Given the description of an element on the screen output the (x, y) to click on. 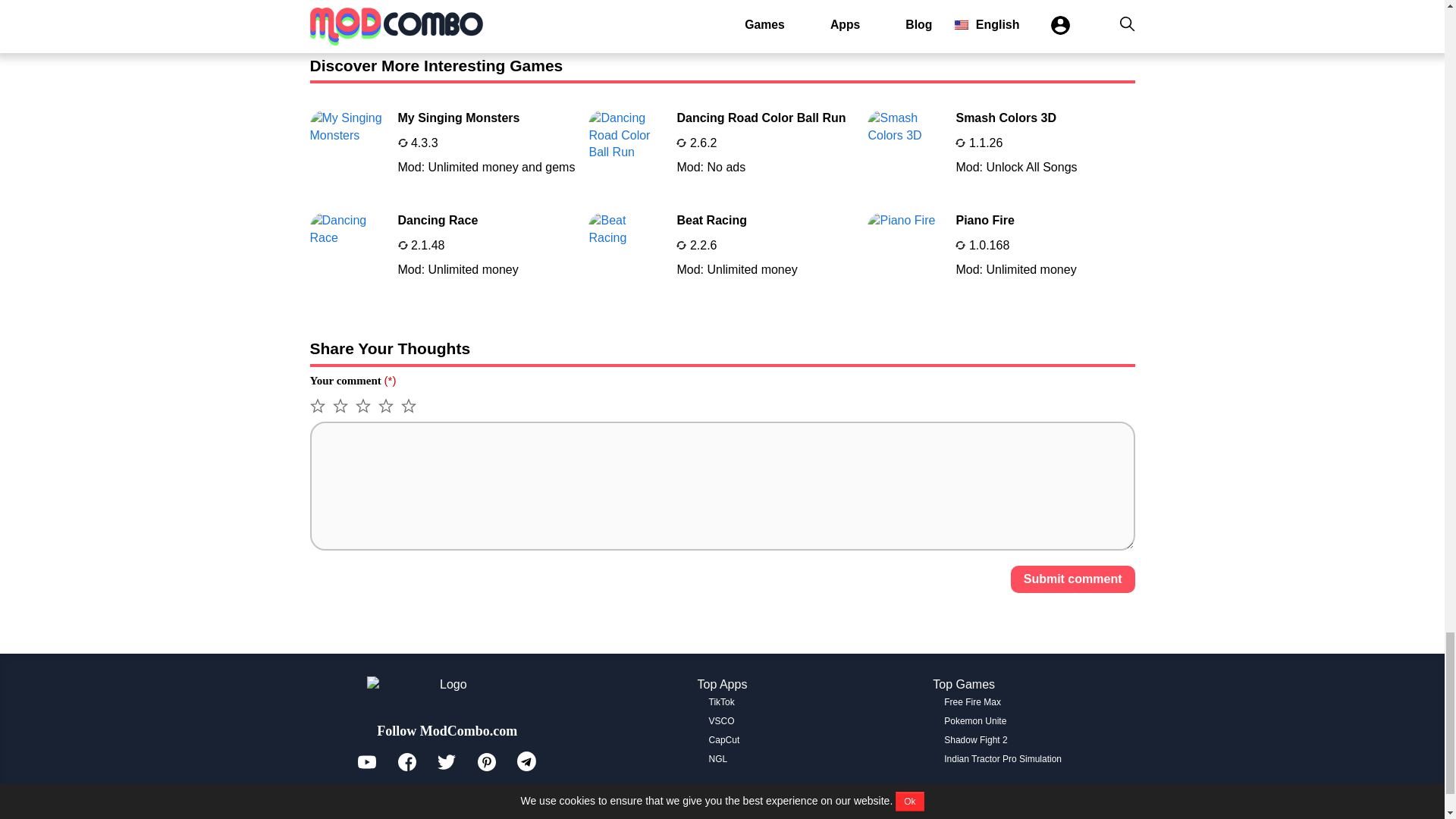
Submit comment (442, 250)
CapCut (1072, 578)
Dancing Race (724, 739)
TikTok (722, 147)
Free Fire Max (442, 250)
VSCO (722, 701)
NGL (972, 701)
DMCA.com Protection Status (1000, 250)
Piano Fire (722, 720)
Beat Racing (718, 758)
Dancing Road Color Ball Run (447, 799)
